Given the description of an element on the screen output the (x, y) to click on. 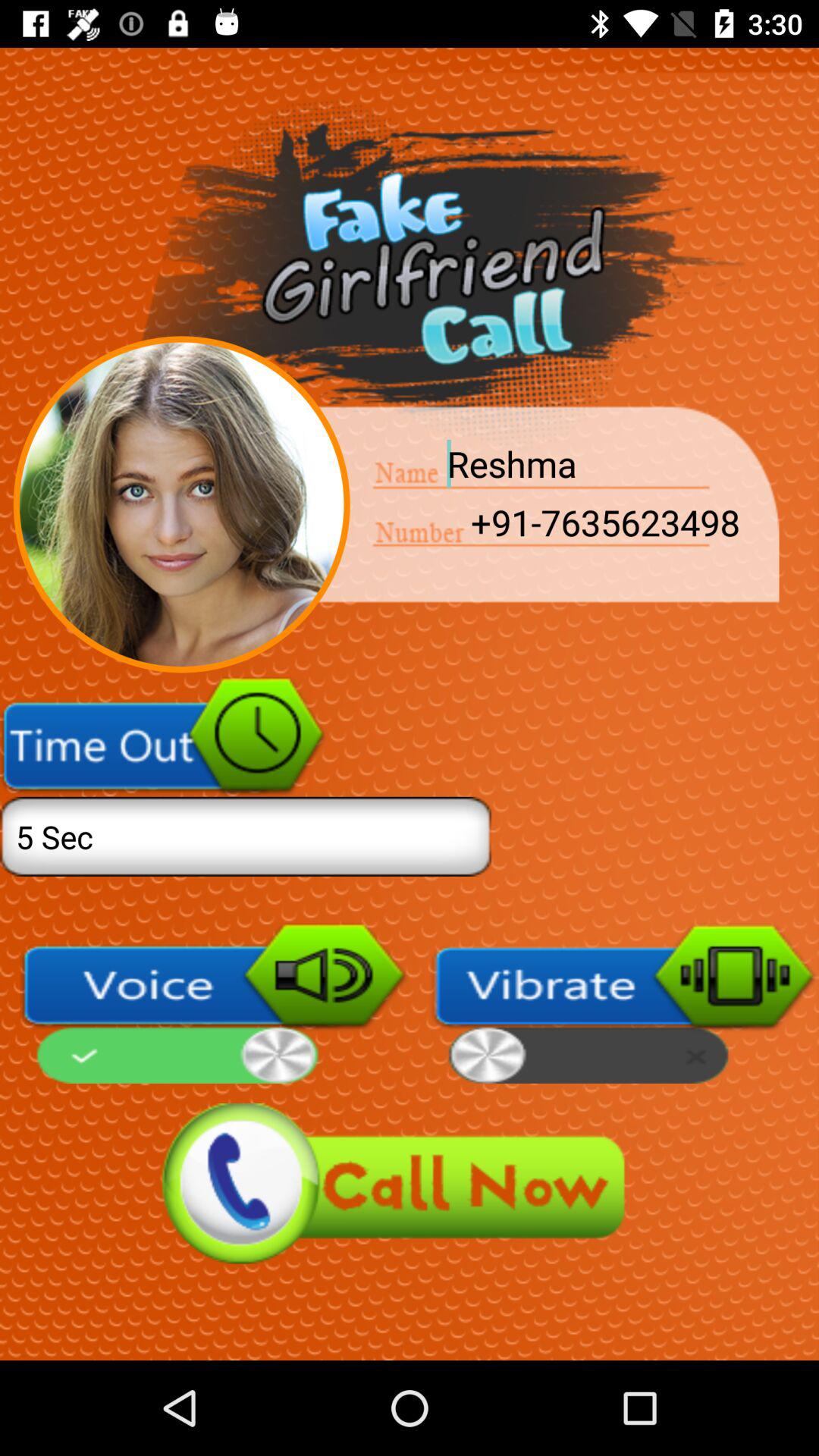
call now (408, 1183)
